Given the description of an element on the screen output the (x, y) to click on. 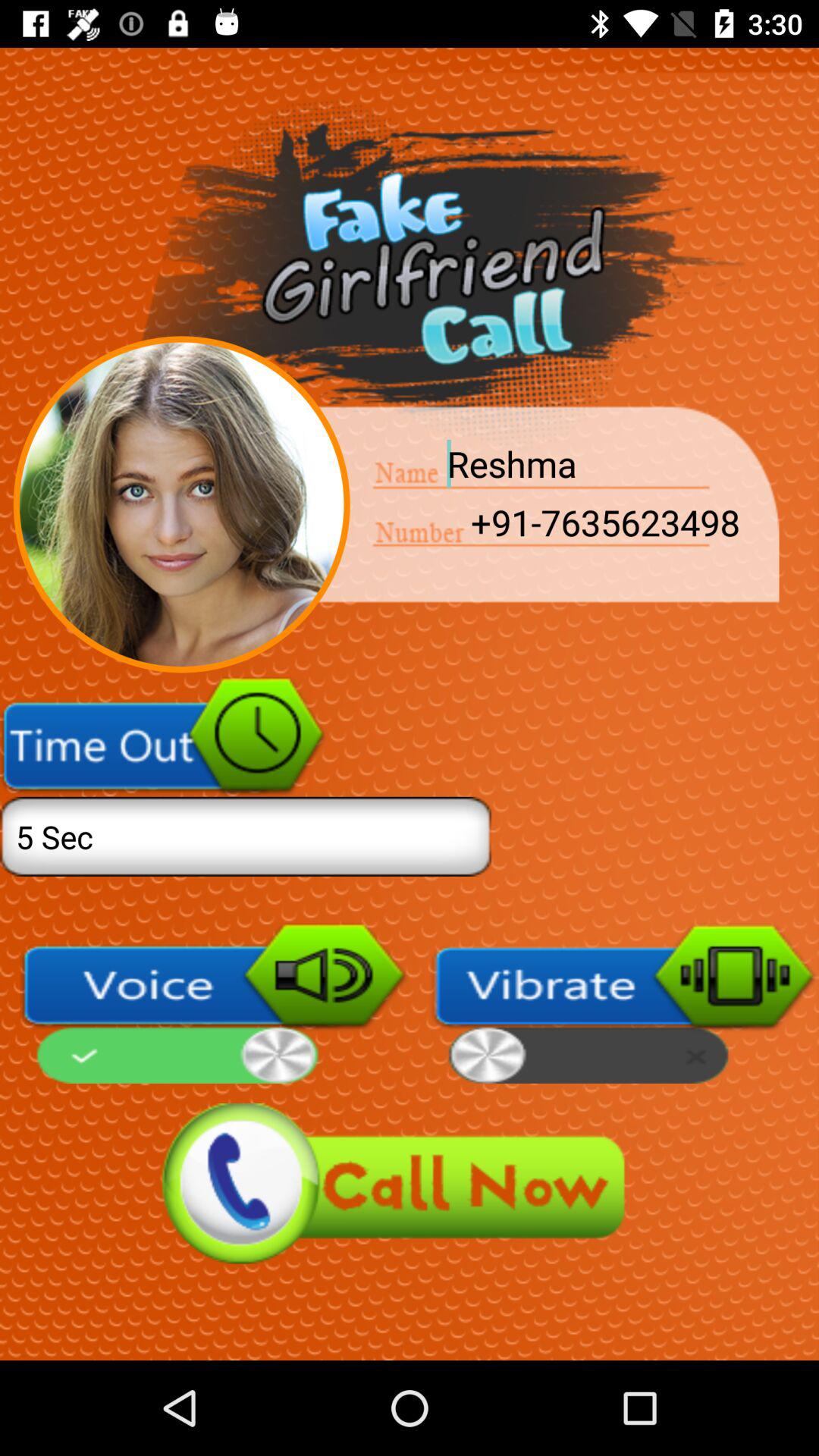
call now (408, 1183)
